Given the description of an element on the screen output the (x, y) to click on. 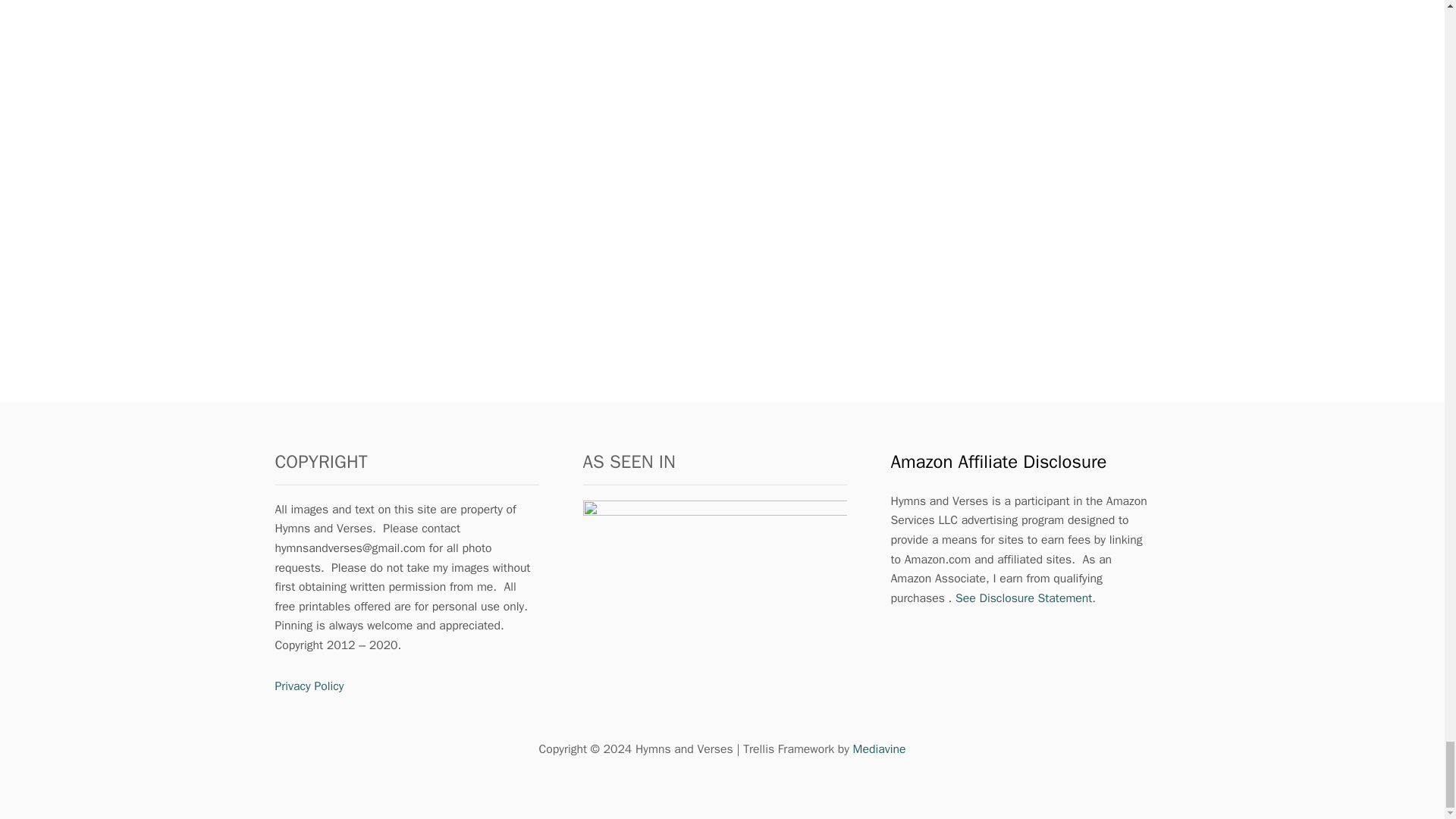
as seen in (713, 580)
